Given the description of an element on the screen output the (x, y) to click on. 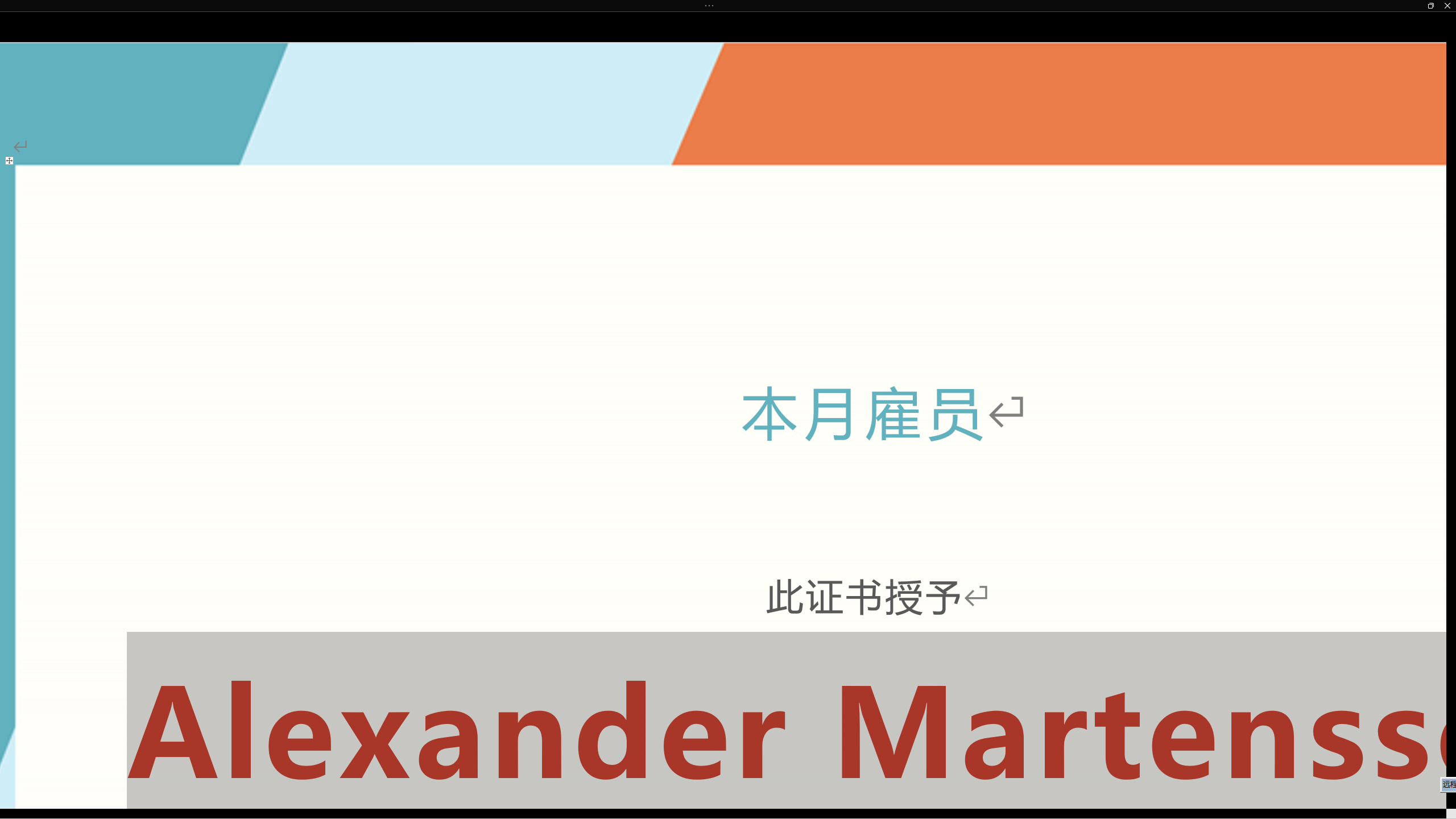
Show the Ribbon (711, 5)
Page 1 content (722, 467)
Class: NetUIAnchor (728, 5)
